Given the description of an element on the screen output the (x, y) to click on. 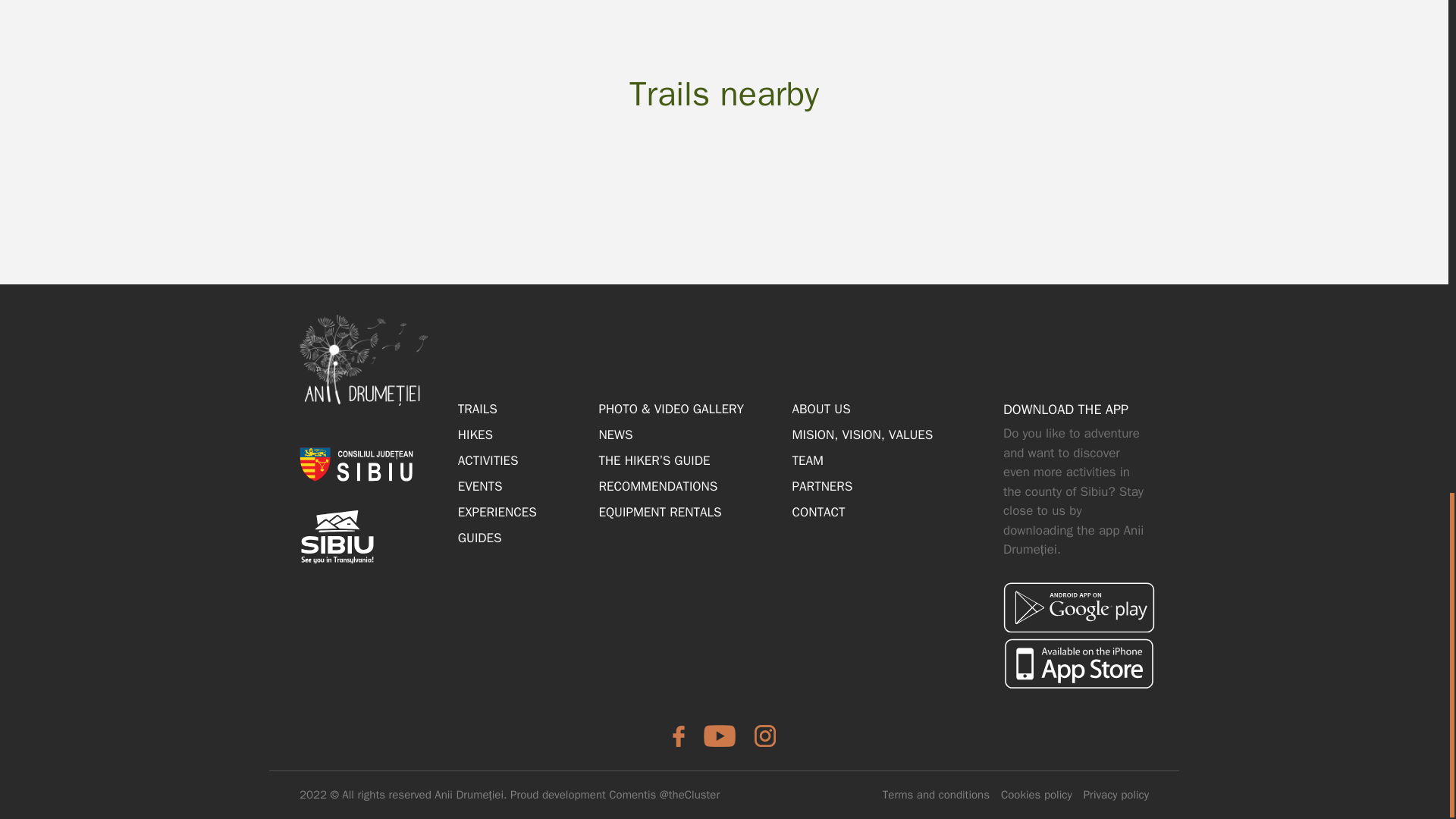
HIKES (475, 434)
TRAILS (477, 408)
NEWS (614, 434)
EXPERIENCES (497, 512)
RECOMMENDATIONS (657, 486)
EQUIPMENT RENTALS (659, 512)
ABOUT US (821, 408)
Scroll back to top (1409, 311)
PARTNERS (822, 486)
EVENTS (480, 486)
ACTIVITIES (488, 460)
GUIDES (480, 537)
TEAM (808, 460)
MISION, VISION, VALUES (862, 434)
